Given the description of an element on the screen output the (x, y) to click on. 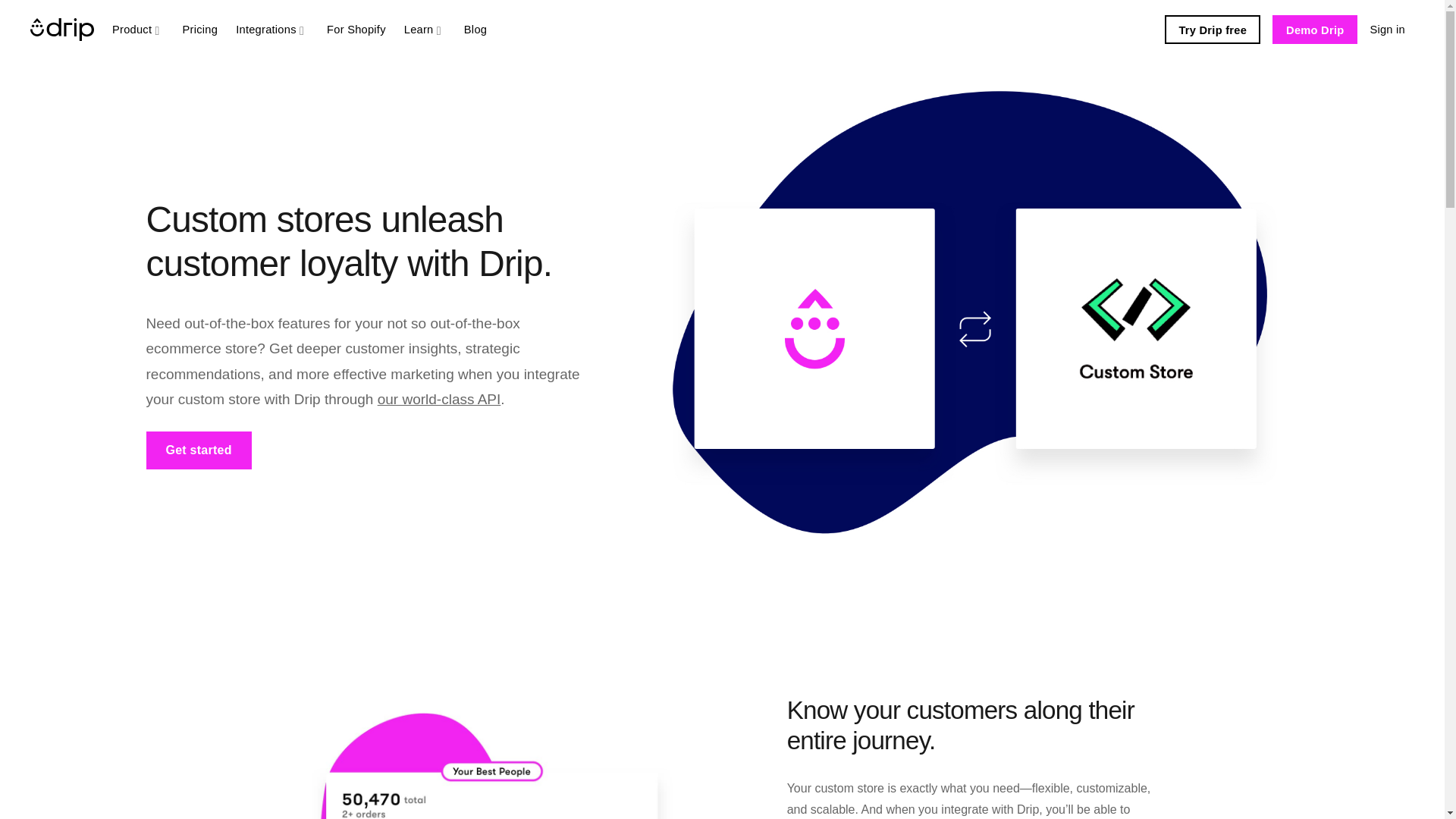
Get started (197, 450)
our world-class API (438, 399)
Integrations (272, 29)
Try Drip free (1212, 29)
For Shopify (355, 29)
Demo Drip (1314, 29)
A recommendation card from Drip labeled "Your Best People." (491, 764)
Pricing (200, 29)
Blog (475, 29)
